Given the description of an element on the screen output the (x, y) to click on. 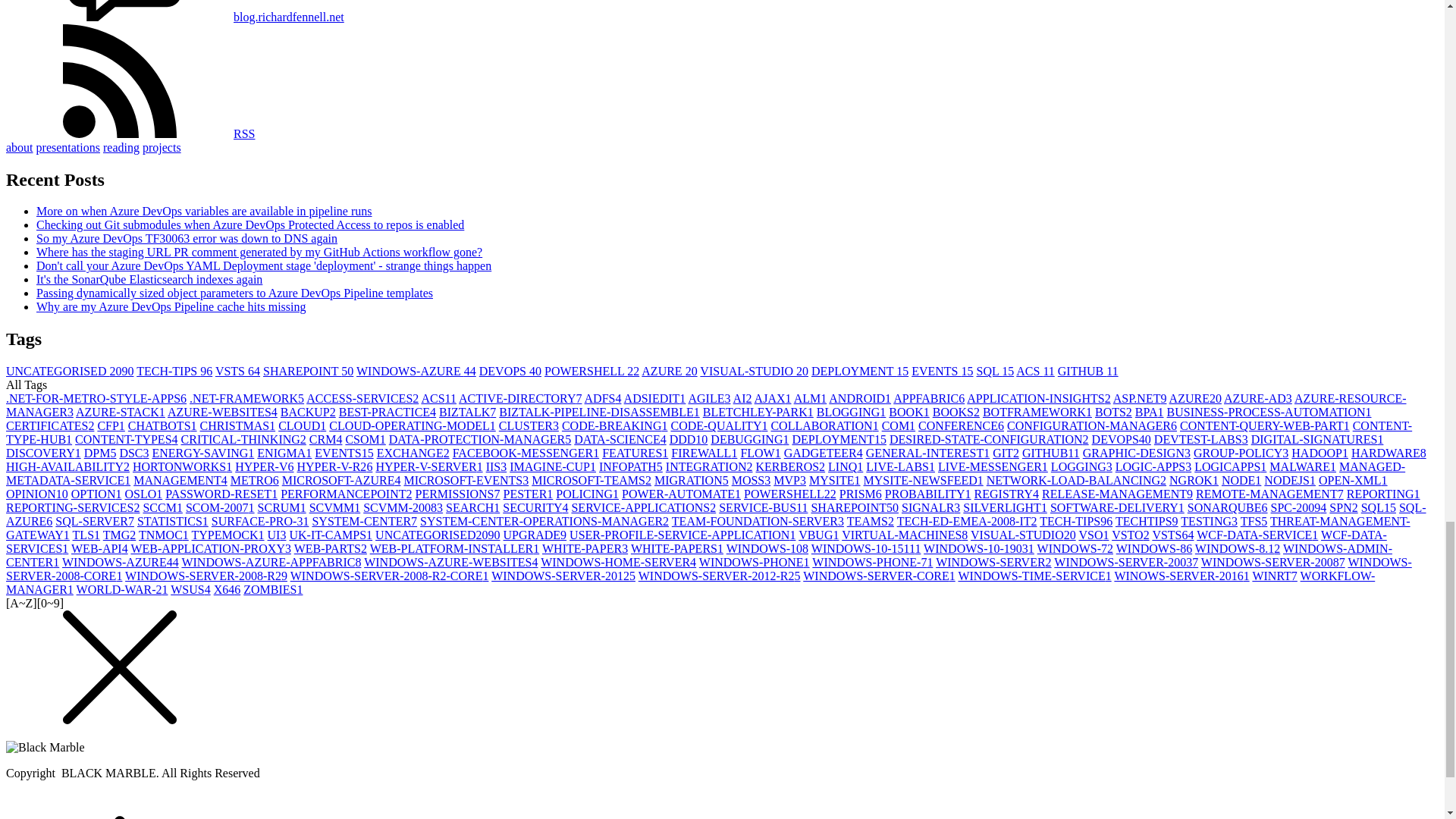
projects (161, 146)
UNCATEGORISED 2090 (69, 370)
projects (161, 146)
presentations (68, 146)
WINDOWS-AZURE 44 (416, 370)
presentations (68, 146)
RSSRSS (129, 133)
VSTS 64 (237, 370)
SHAREPOINT 50 (308, 370)
blog.richardfennell.net (287, 16)
